Given the description of an element on the screen output the (x, y) to click on. 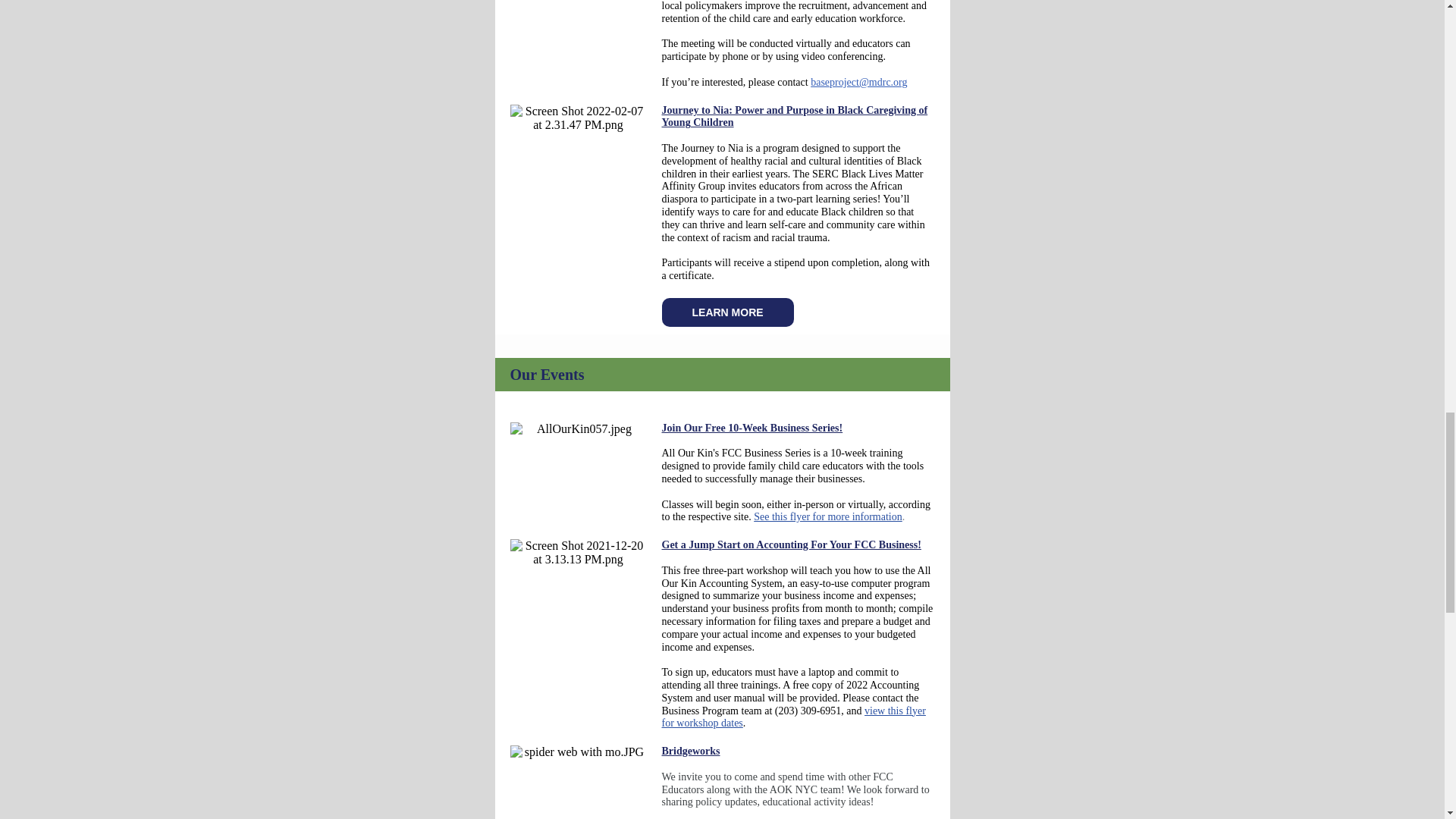
view this flyer for workshop dates (792, 717)
LEARN MORE (726, 312)
See this flyer for more information (828, 516)
